Given the description of an element on the screen output the (x, y) to click on. 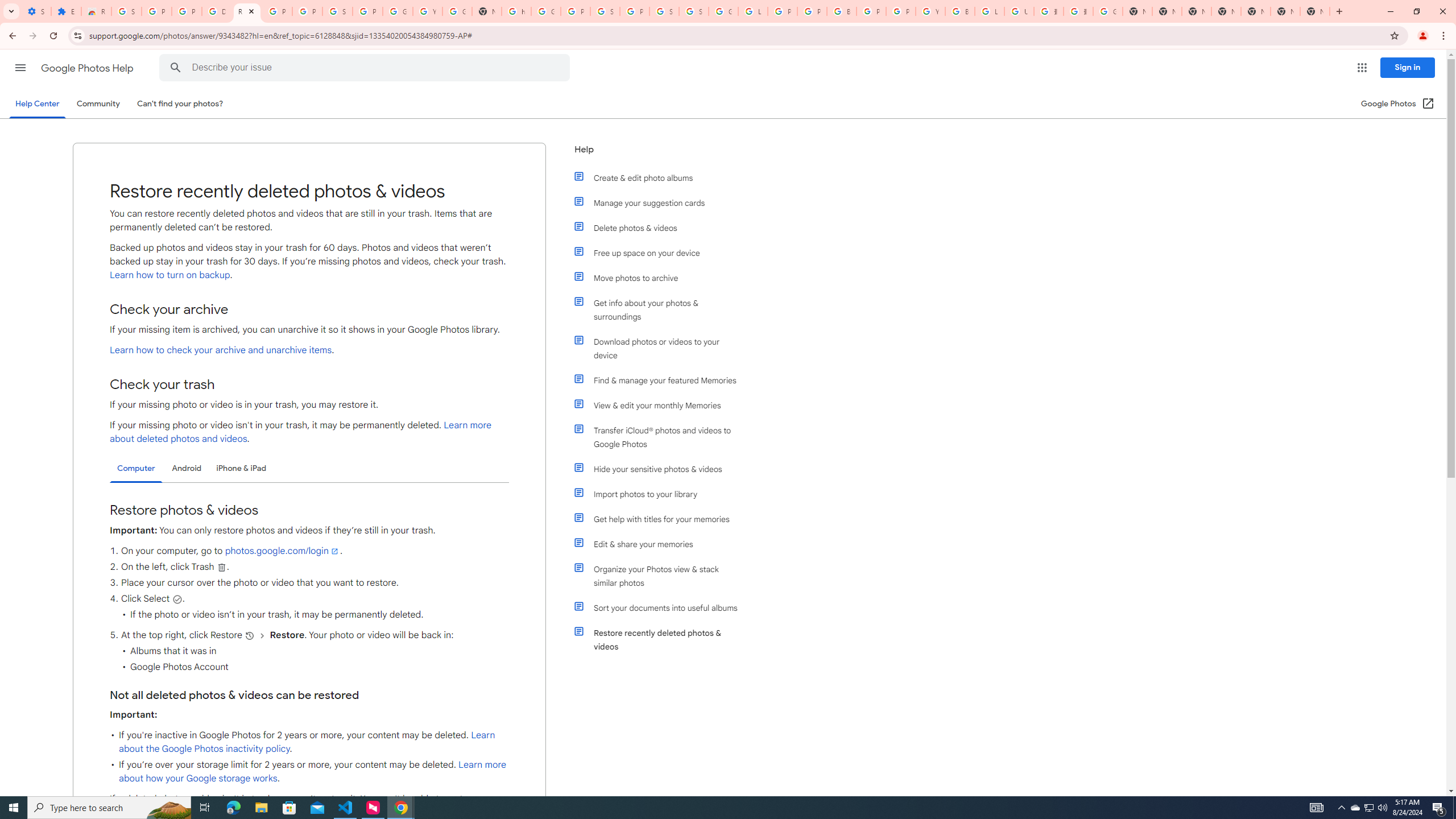
Android (186, 468)
Computer (136, 469)
YouTube (930, 11)
YouTube (426, 11)
Sign in - Google Accounts (664, 11)
Import photos to your library (661, 493)
Google Account (397, 11)
Main menu (20, 67)
Sign in - Google Accounts (337, 11)
